Given the description of an element on the screen output the (x, y) to click on. 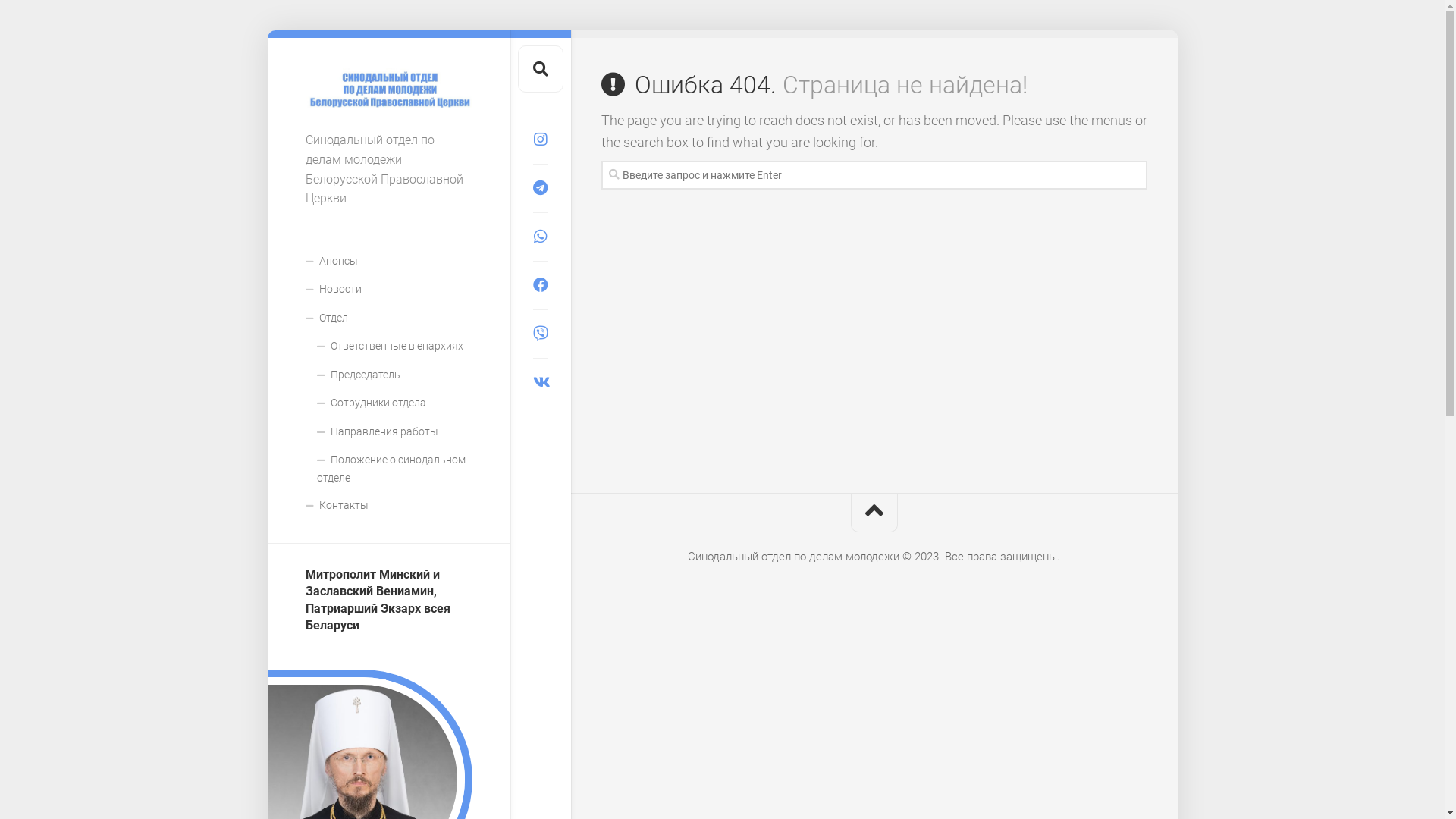
Viber Element type: hover (539, 333)
Instagram Element type: hover (539, 139)
telegram Element type: hover (539, 187)
whatsapp Element type: hover (539, 236)
vk Element type: hover (539, 381)
facebook Element type: hover (539, 284)
